Given the description of an element on the screen output the (x, y) to click on. 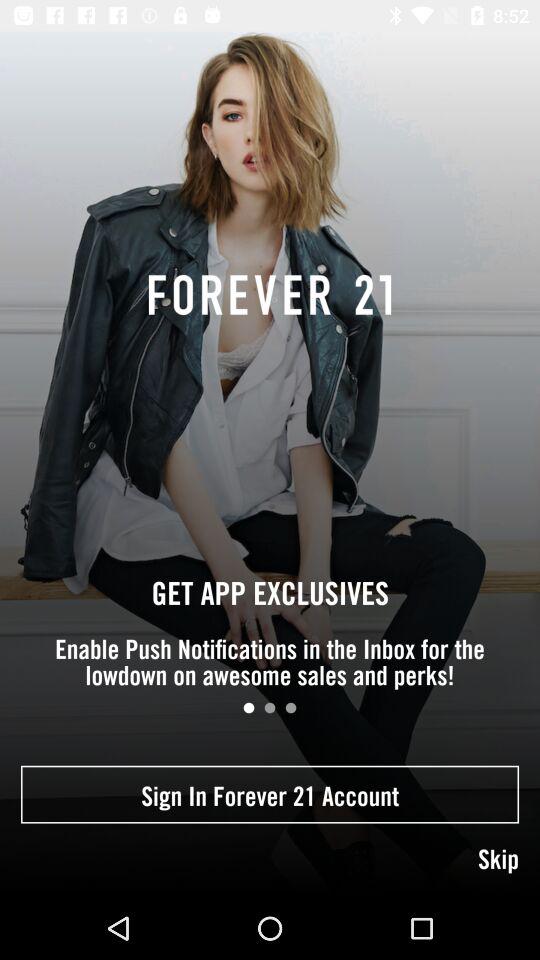
flip until the sign in forever (270, 794)
